Given the description of an element on the screen output the (x, y) to click on. 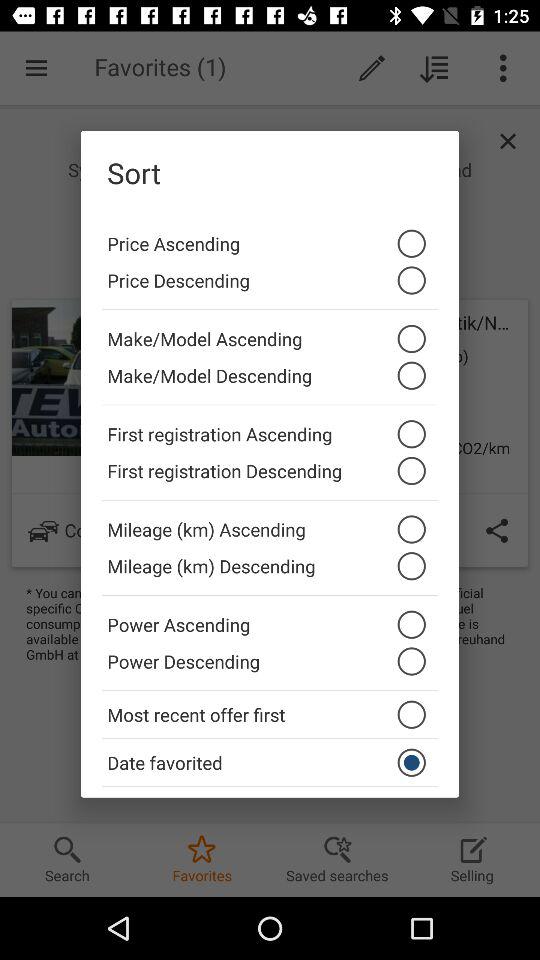
turn off the power ascending icon (269, 619)
